Given the description of an element on the screen output the (x, y) to click on. 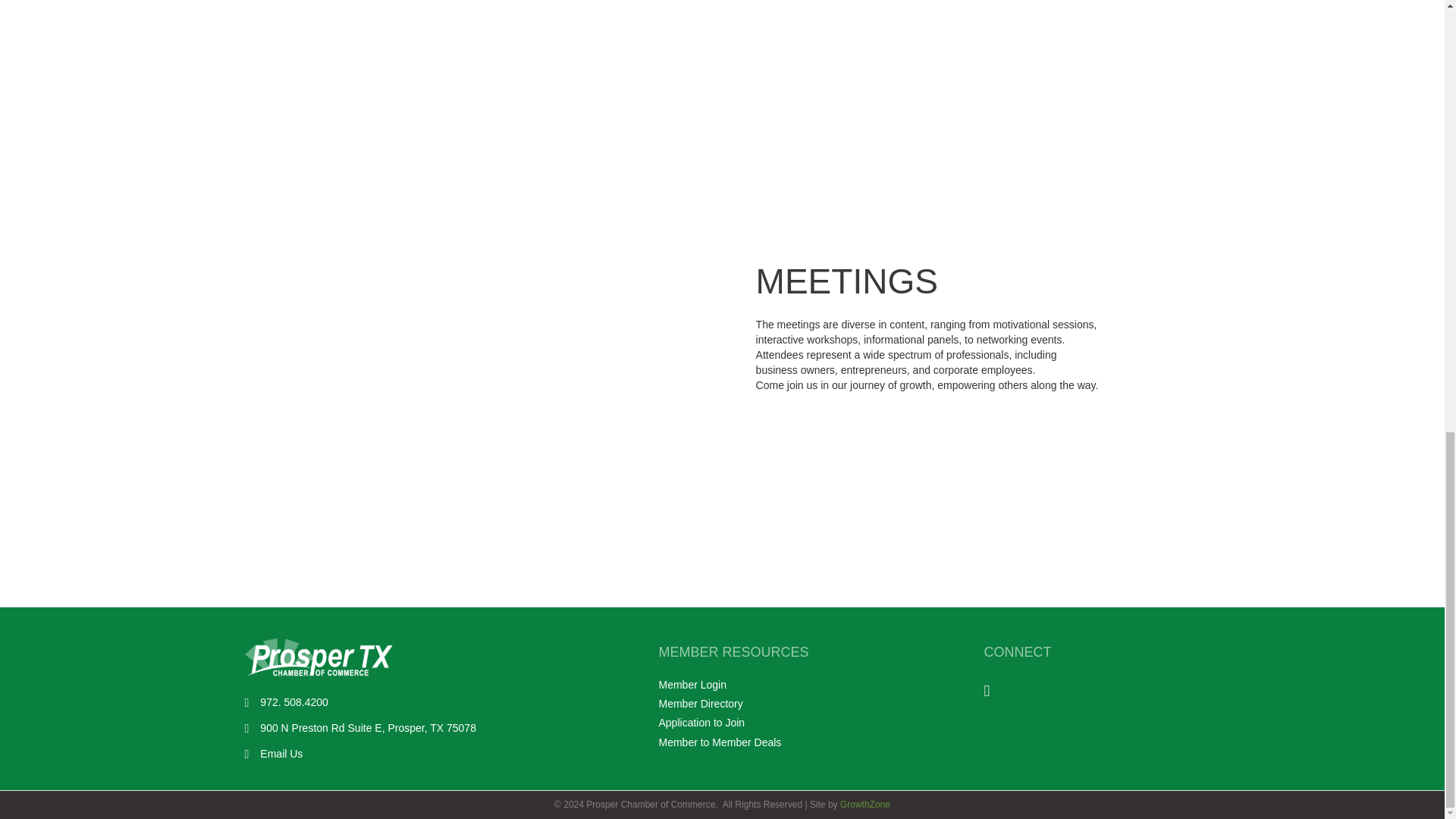
Member Directory (700, 703)
Application to Join (701, 722)
900 N Preston Rd Suite E, Prosper, TX 75078 (368, 728)
Member Login (692, 684)
Member to Member Deals (719, 742)
972. 508.4200 (294, 702)
Email Us (281, 754)
GrowthZone (864, 804)
